Given the description of an element on the screen output the (x, y) to click on. 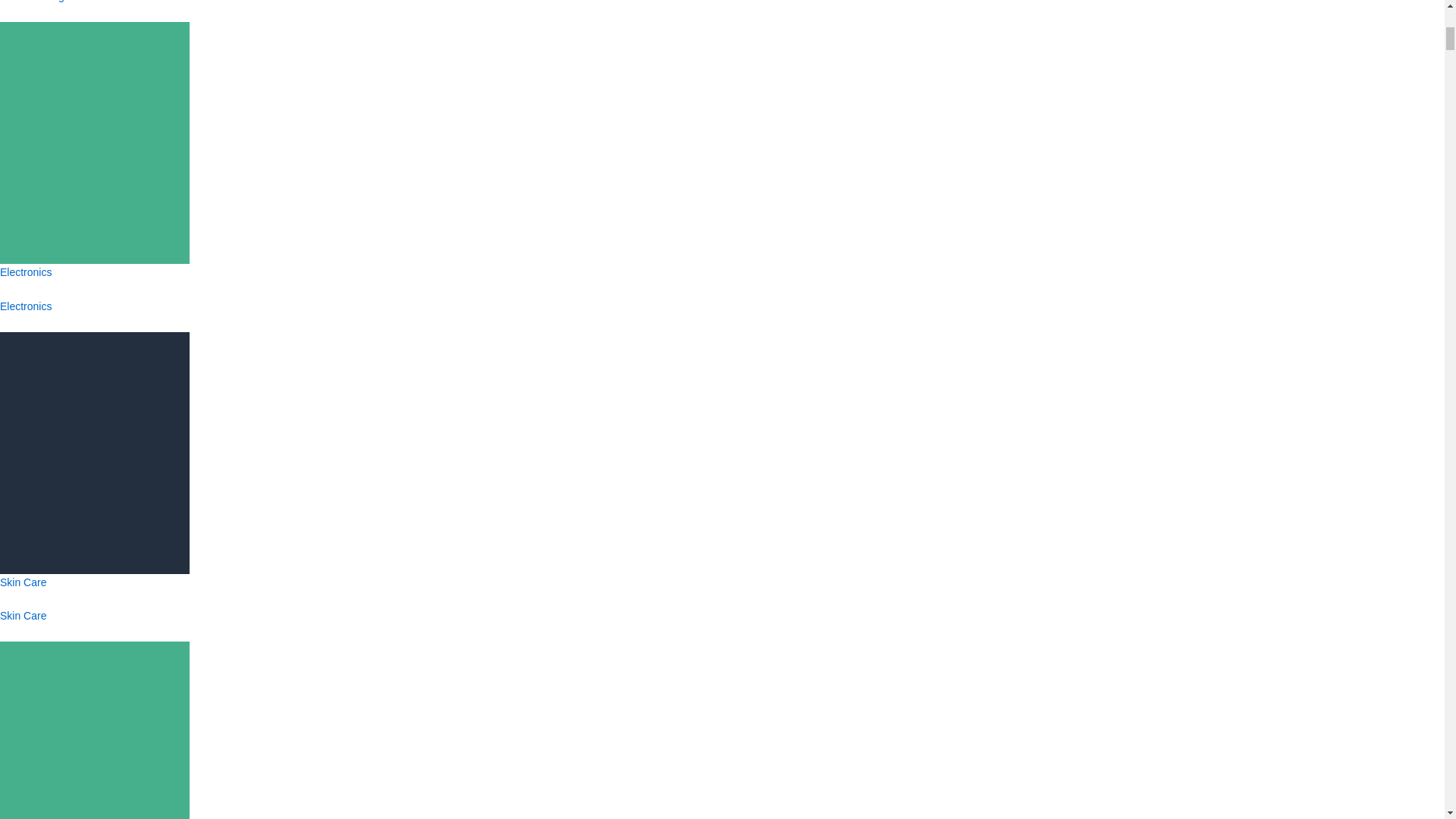
See All Categories (43, 1)
Electronics (25, 306)
Skin Care (23, 615)
Video Games (94, 787)
